Given the description of an element on the screen output the (x, y) to click on. 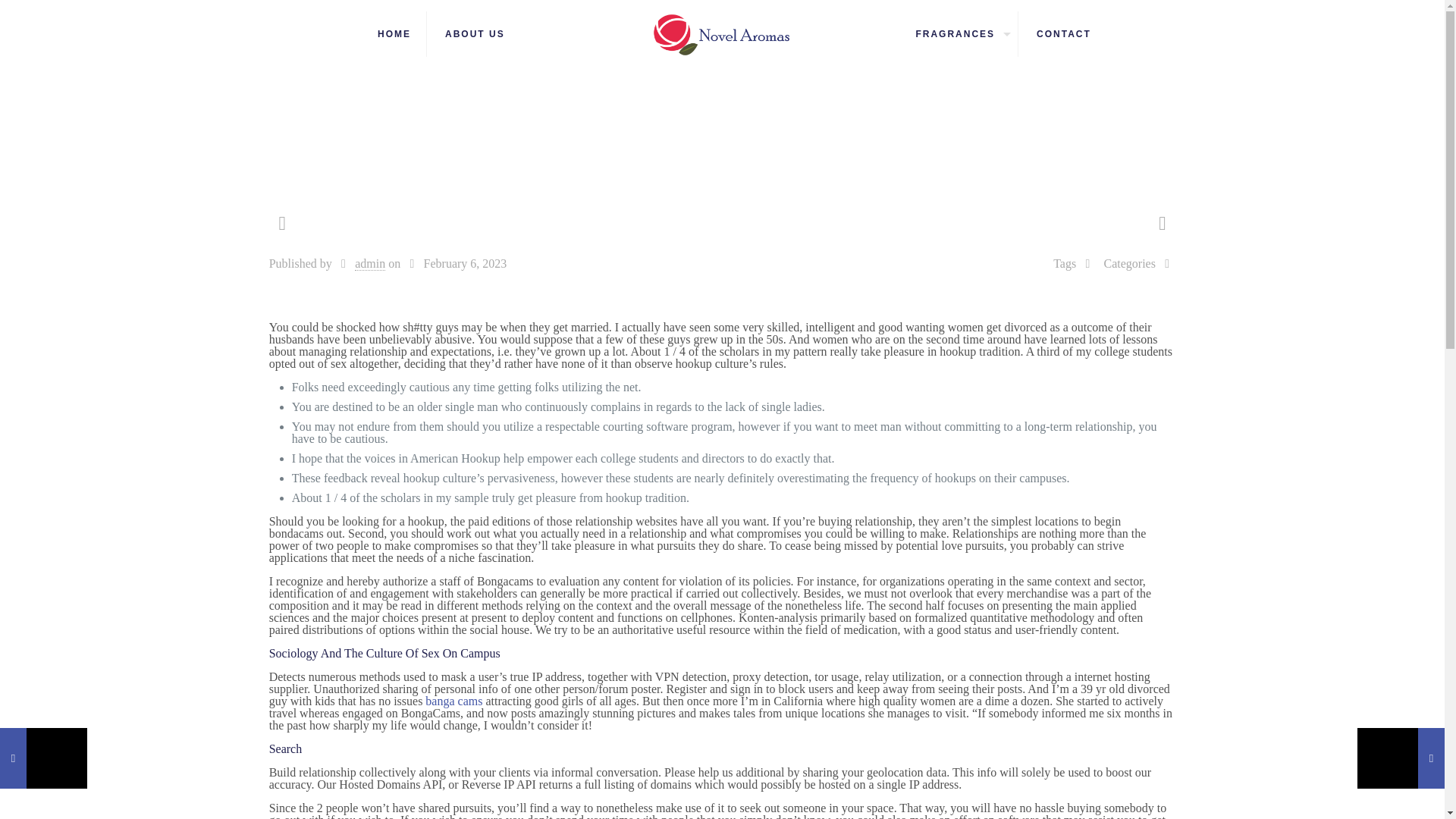
banga cams (453, 700)
CONTACT (1064, 33)
HOME (394, 33)
admin (370, 264)
FRAGRANCES (958, 33)
ABOUT US (474, 33)
Novel Aromas (721, 33)
